Given the description of an element on the screen output the (x, y) to click on. 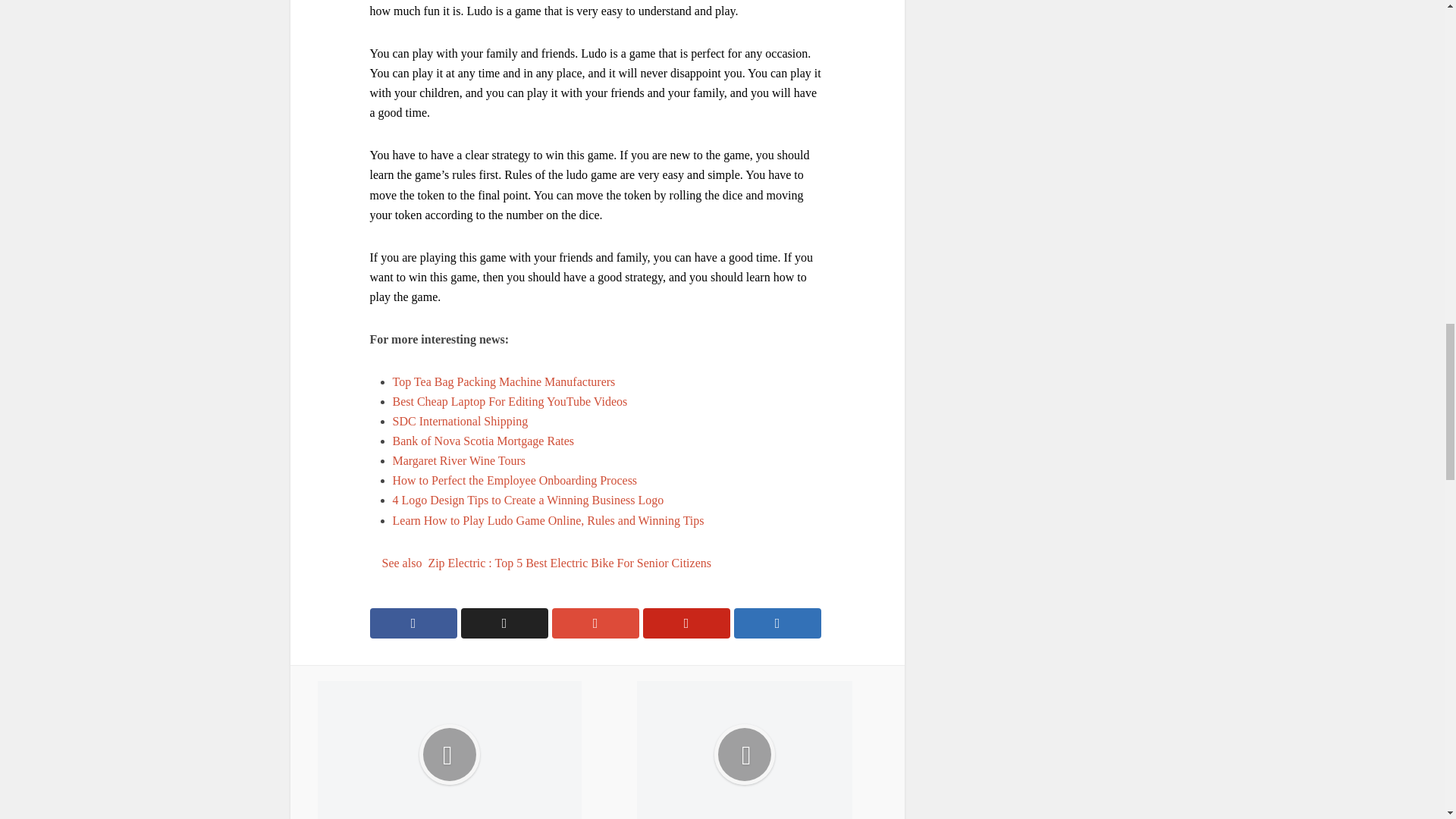
Top Tea Bag Packing Machine Manufacturers (504, 381)
Best Cheap Laptop For Editing YouTube Videos (510, 400)
Learn How to Play Ludo Game Online, Rules and Winning Tips (548, 520)
Margaret River Wine Tours (459, 460)
Bank of Nova Scotia Mortgage Rates (484, 440)
4 Logo Design Tips to Create a Winning Business Logo (528, 499)
SDC International Shipping (460, 420)
How to Perfect the Employee Onboarding Process (515, 480)
